Given the description of an element on the screen output the (x, y) to click on. 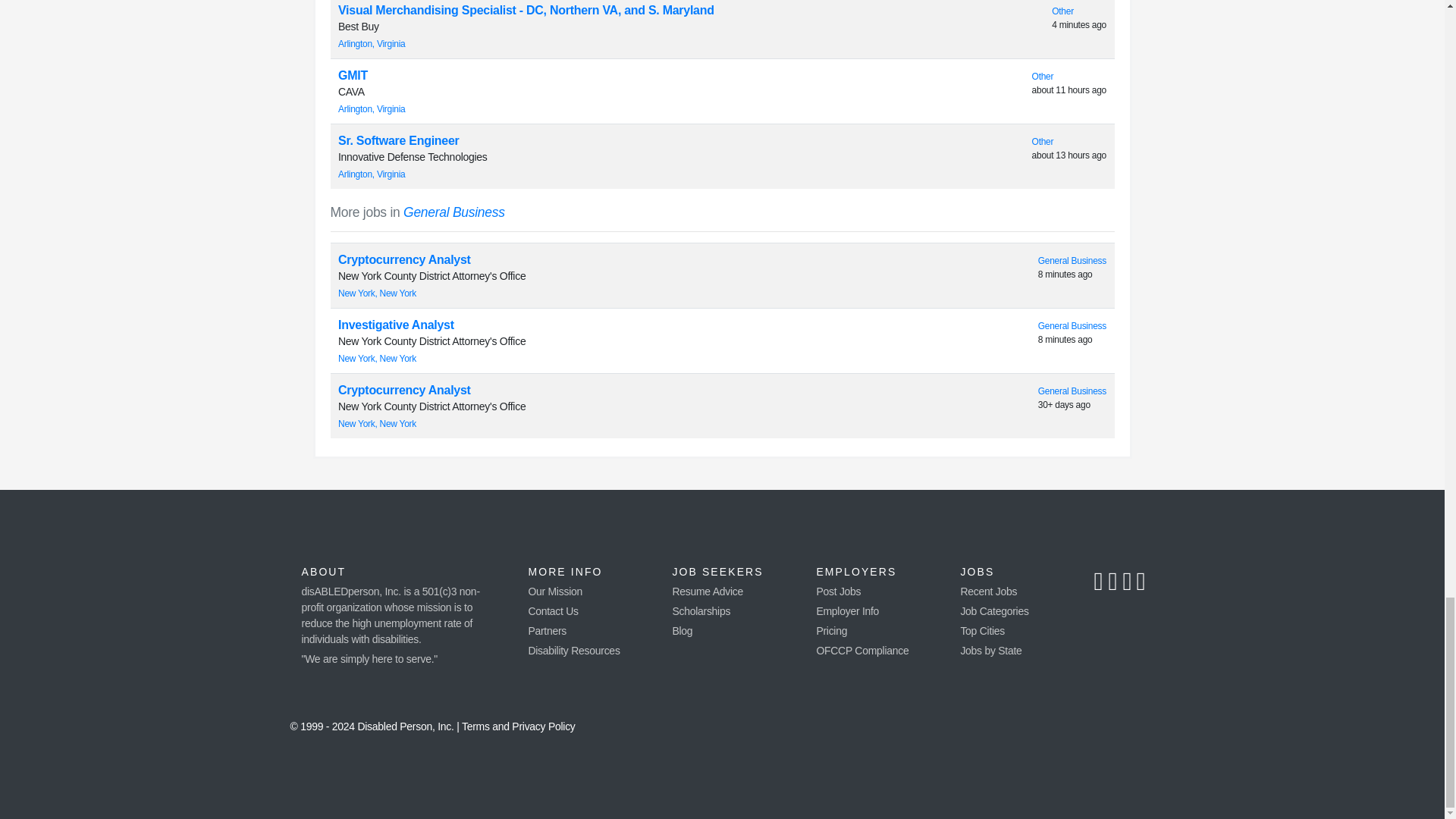
General Business (1072, 390)
Our Mission (554, 591)
General Business (1072, 260)
General Business (1072, 326)
Other (1062, 10)
GMIT (352, 74)
New York, New York (376, 357)
General Business (454, 212)
Arlington, Virginia (371, 173)
Investigative Analyst (395, 324)
